Given the description of an element on the screen output the (x, y) to click on. 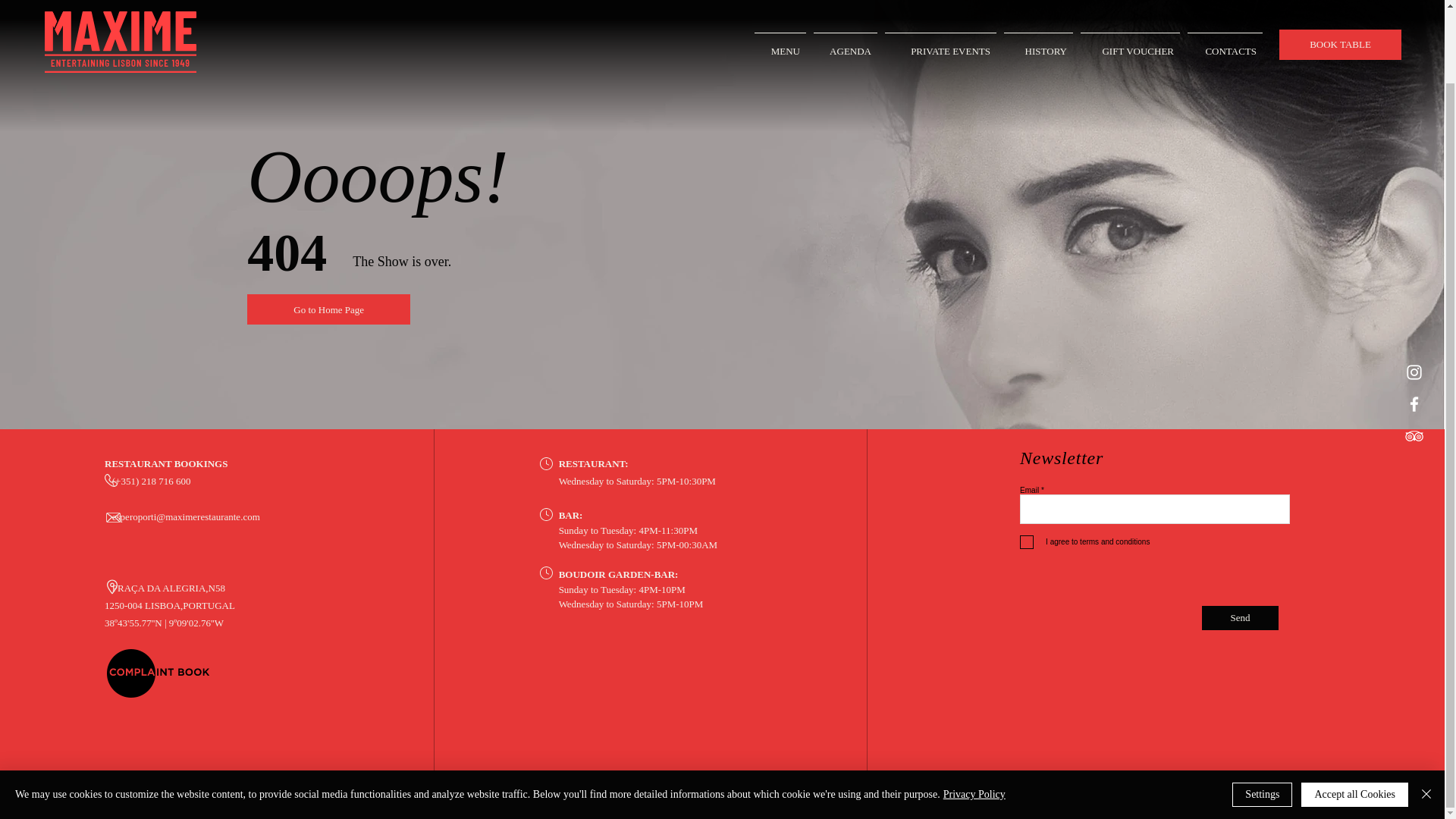
Gallery (210, 784)
Send (1240, 617)
Terms and Conditions (47, 784)
Accept all Cookies (1354, 712)
Privacy Policy (112, 784)
Privacy Policy (974, 712)
Go to Home Page (328, 309)
Settings (1261, 712)
Cookies Policy (167, 784)
